Given the description of an element on the screen output the (x, y) to click on. 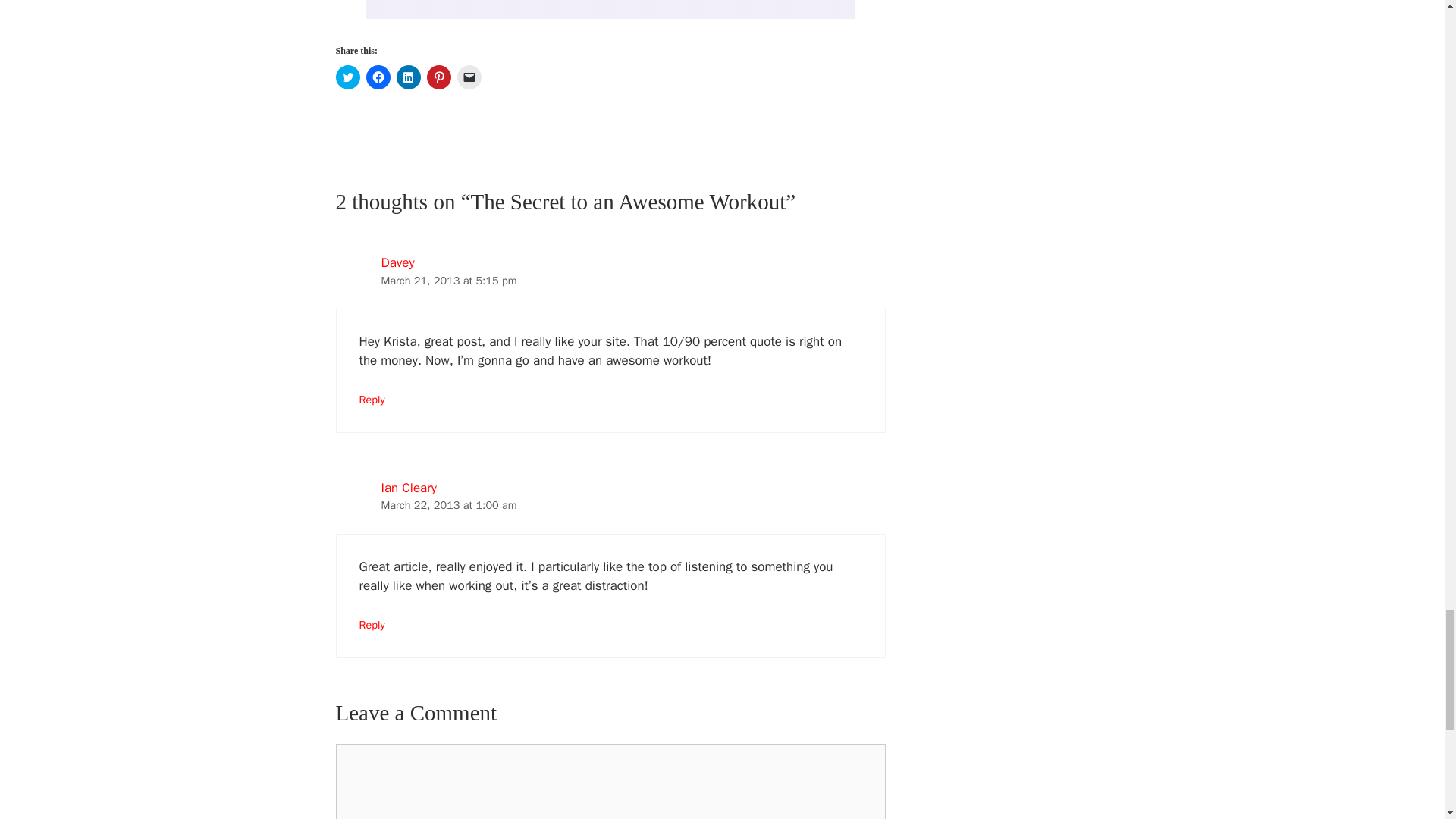
Click to share on Pinterest (437, 77)
Davey (396, 262)
Click to share on Twitter (346, 77)
Click to email a link to a friend (468, 77)
Ian Cleary (407, 487)
Click to share on LinkedIn (408, 77)
Click to share on Facebook (377, 77)
March 21, 2013 at 5:15 pm (448, 280)
Reply (372, 399)
March 22, 2013 at 1:00 am (448, 504)
